Given the description of an element on the screen output the (x, y) to click on. 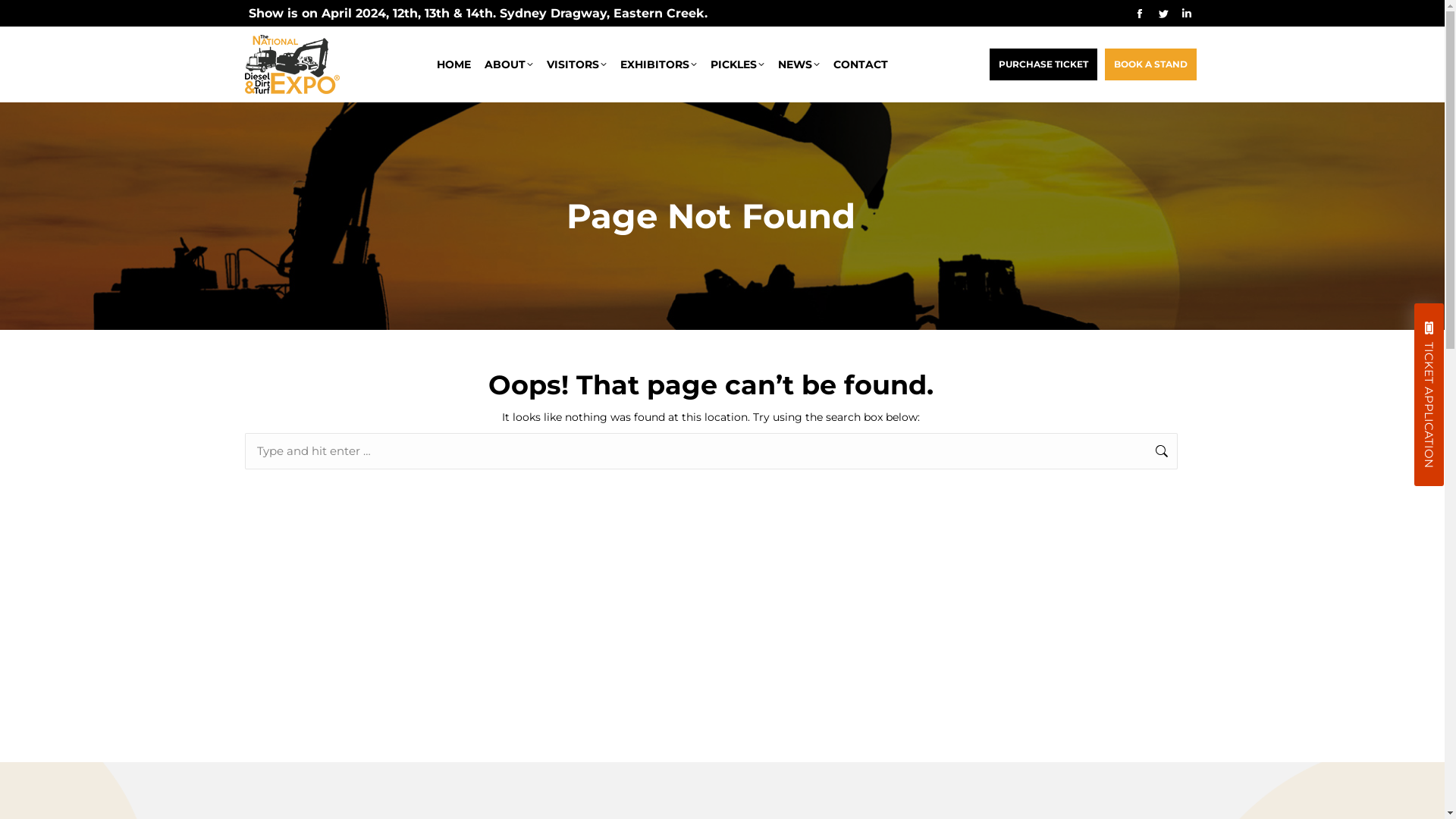
VISITORS Element type: text (576, 64)
HOME Element type: text (453, 64)
Linkedin page opens in new window Element type: hover (1186, 12)
EXHIBITORS Element type: text (658, 64)
BOOK A STAND Element type: text (1149, 64)
PURCHASE TICKET Element type: text (1042, 64)
Go! Element type: text (1227, 452)
PICKLES Element type: text (737, 64)
CONTACT Element type: text (860, 64)
ABOUT Element type: text (508, 64)
Twitter page opens in new window Element type: hover (1162, 12)
Facebook page opens in new window Element type: hover (1139, 12)
NEWS Element type: text (798, 64)
